Given the description of an element on the screen output the (x, y) to click on. 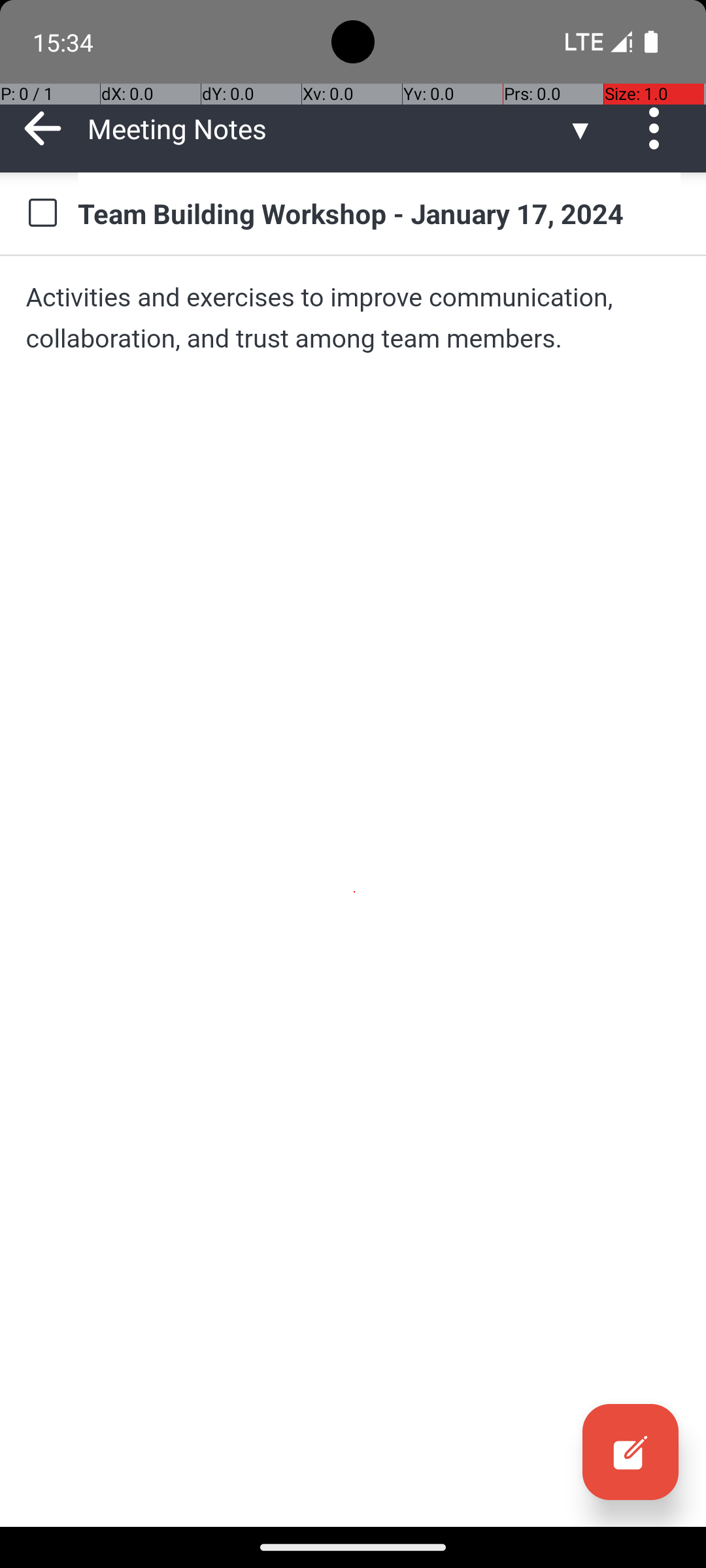
Team Building Workshop - January 17, 2024 Element type: android.widget.EditText (378, 213)
Edit, collapsed Element type: android.widget.Button (630, 1452)
Meeting Notes Element type: android.widget.TextView (326, 128)
 Element type: android.widget.TextView (630, 1451)
Activities and exercises to improve communication, collaboration, and trust among team members. Element type: android.widget.TextView (352, 317)
